Given the description of an element on the screen output the (x, y) to click on. 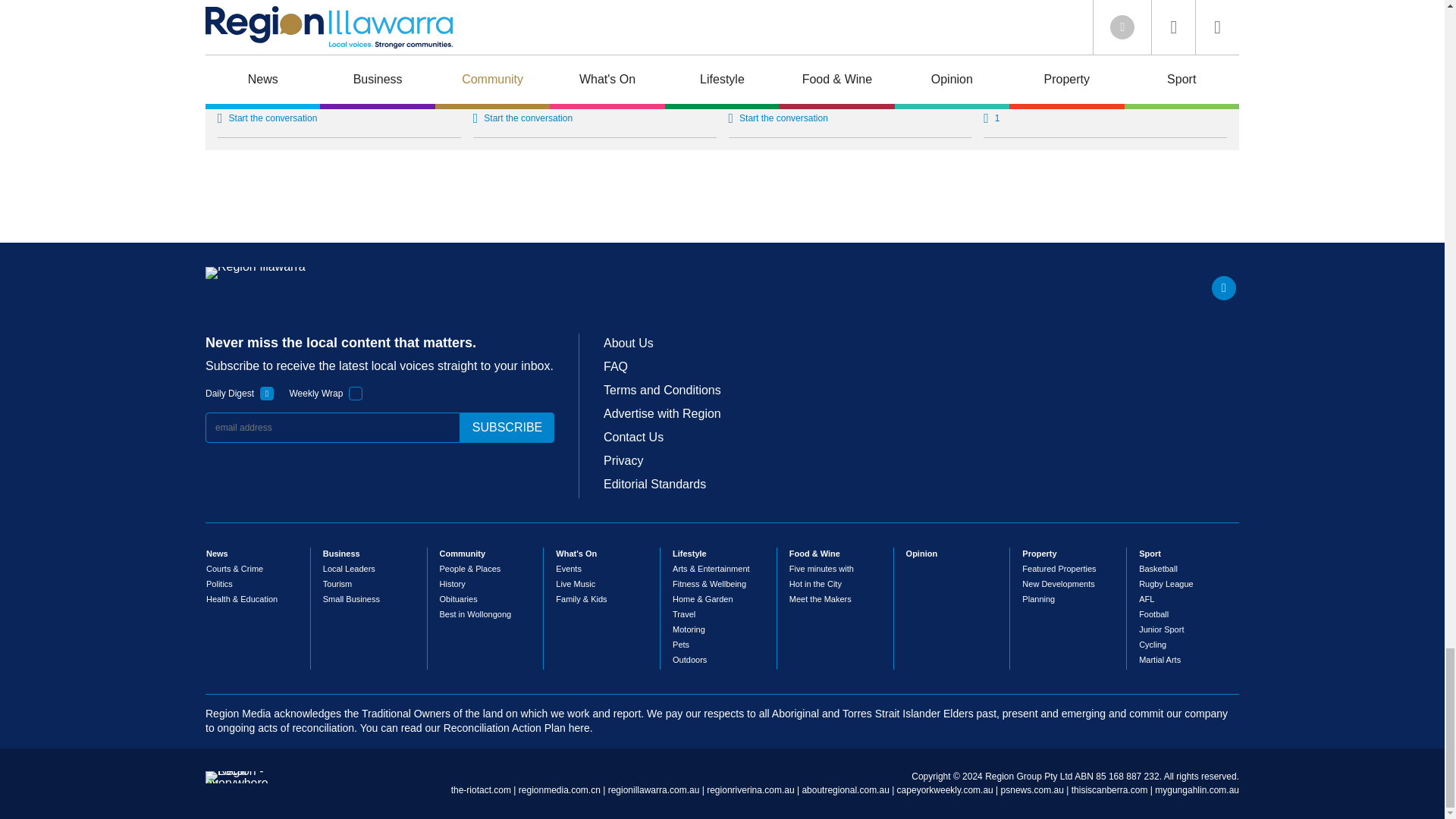
Facebook (1223, 288)
Region - Local everywhere (236, 783)
1 (266, 393)
subscribe (507, 427)
1 (355, 393)
